Given the description of an element on the screen output the (x, y) to click on. 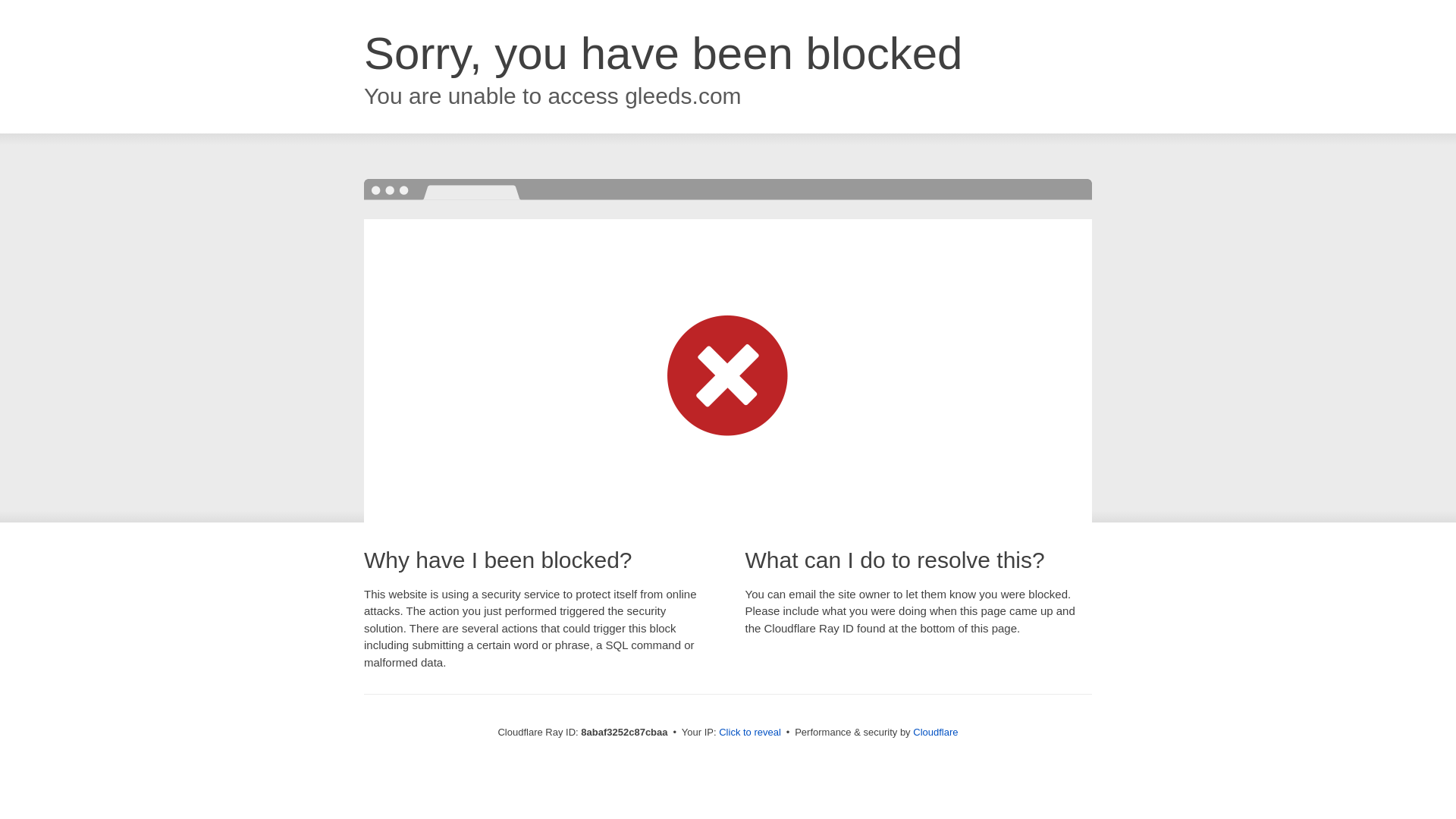
Cloudflare (935, 731)
Click to reveal (749, 732)
